Given the description of an element on the screen output the (x, y) to click on. 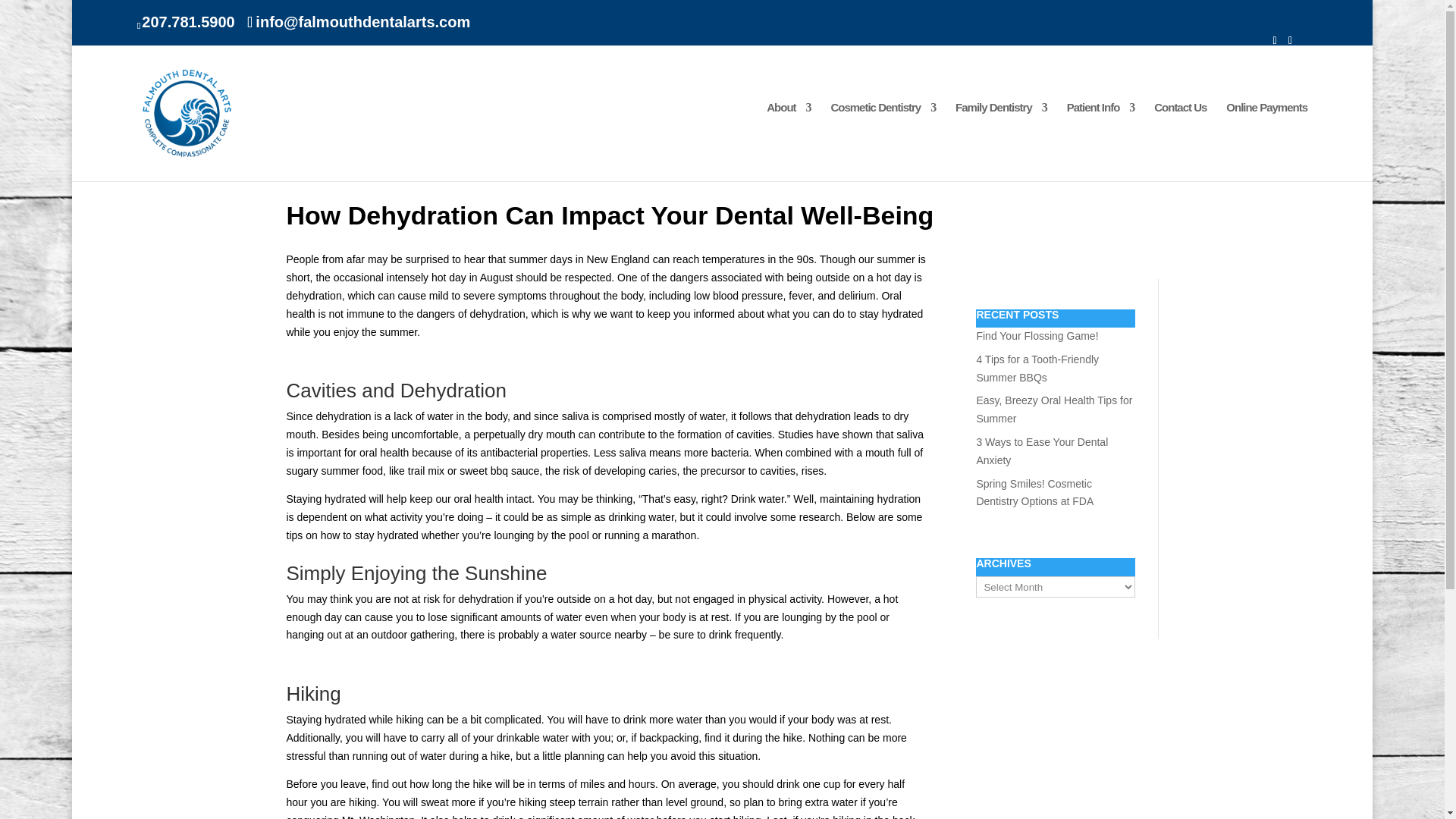
Online Payments (1266, 135)
Patient Info (1101, 135)
Cosmetic Dentistry (882, 135)
207.781.5900 (187, 21)
Family Dentistry (1000, 135)
